Given the description of an element on the screen output the (x, y) to click on. 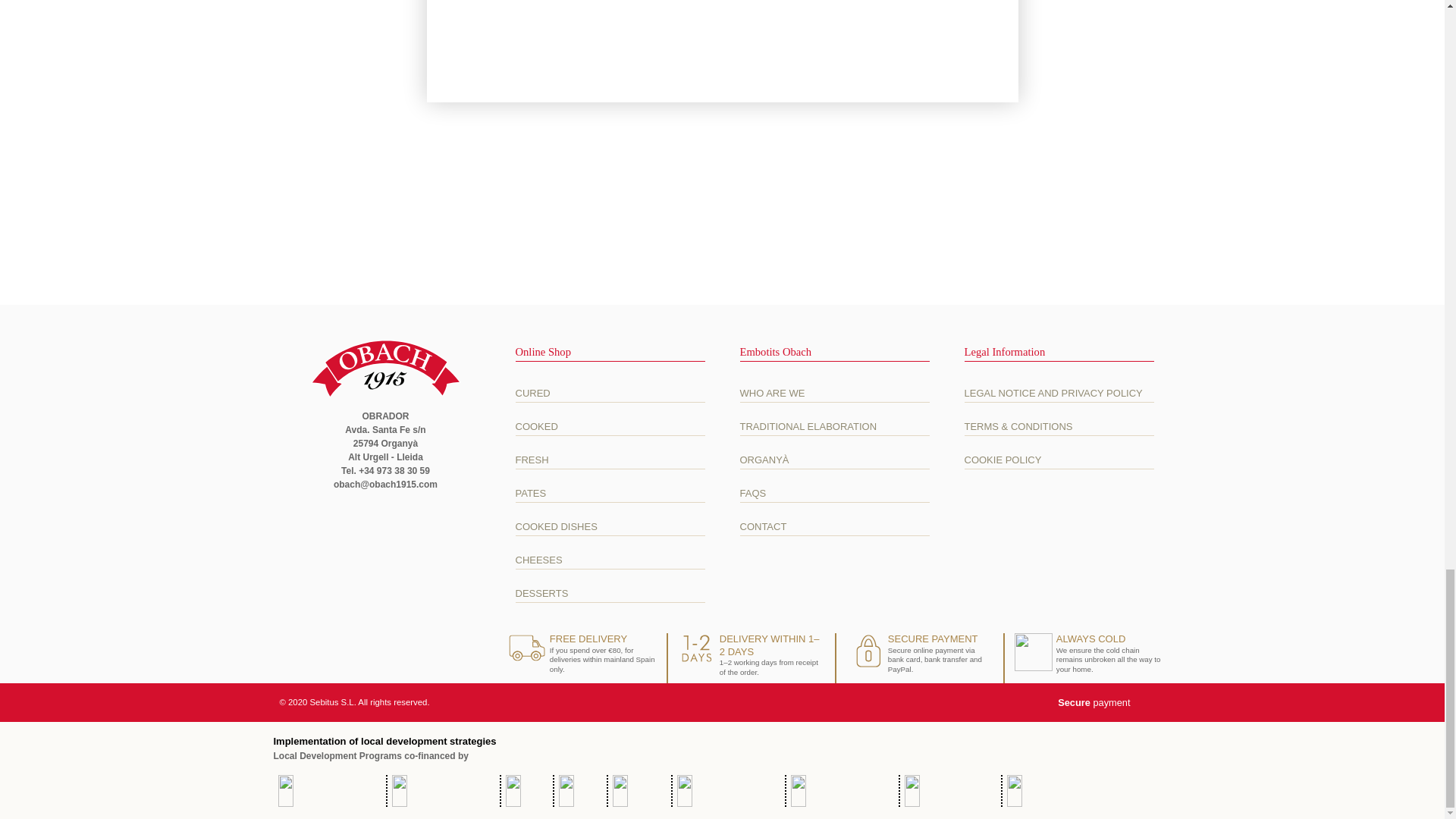
Embotits Obach (384, 368)
CURED (609, 393)
CONTACT (834, 526)
PATES (609, 493)
COOKED DISHES (609, 526)
TRADITIONAL ELABORATION (834, 426)
LEGAL NOTICE AND PRIVACY POLICY (1058, 393)
FAQS (834, 493)
COOKIE POLICY (1058, 459)
CHEESES (609, 560)
FRESH (609, 459)
DESSERTS (609, 593)
WHO ARE WE (834, 393)
COOKED (609, 426)
